Given the description of an element on the screen output the (x, y) to click on. 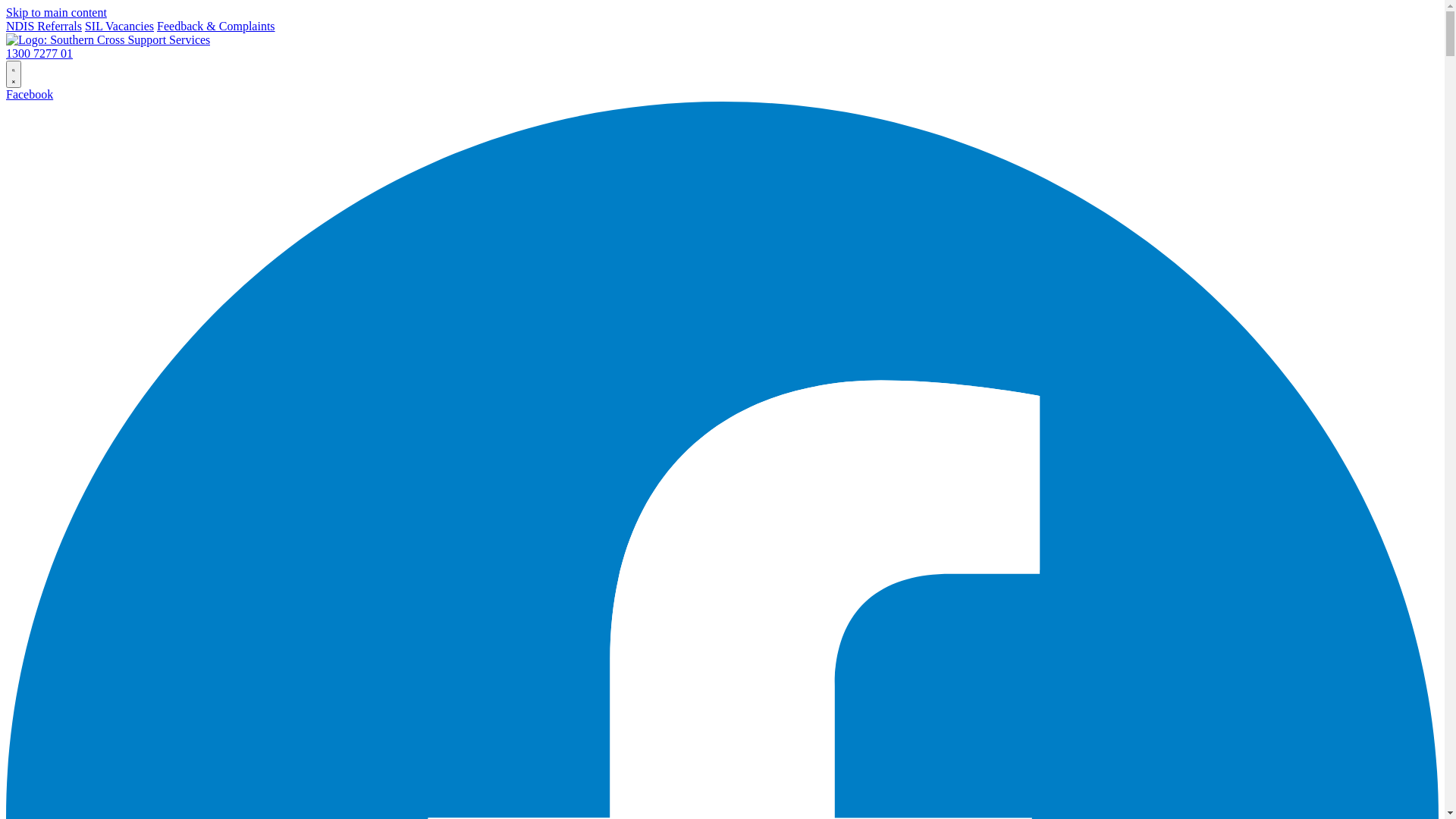
Skip to main content Element type: text (56, 12)
NDIS Referrals Element type: text (43, 25)
SIL Vacancies Element type: text (118, 25)
Show search bar Element type: hover (13, 73)
Feedback & Complaints Element type: text (215, 25)
1300 7277 01 Element type: text (722, 53)
